Given the description of an element on the screen output the (x, y) to click on. 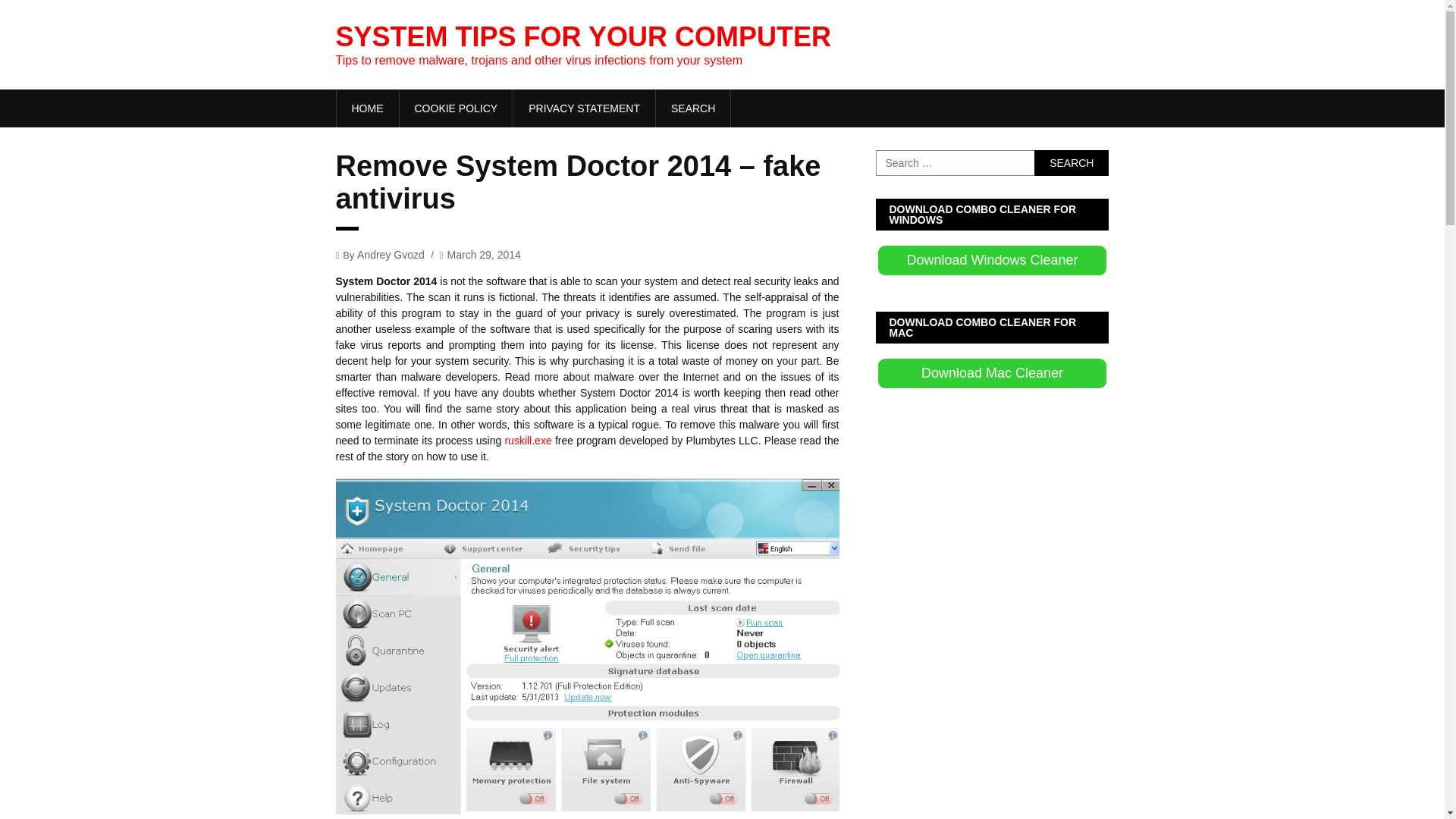
System Tips (367, 108)
Search (1070, 162)
ruskill.exe (527, 440)
Search (1070, 162)
SEARCH (693, 108)
SYSTEM TIPS FOR YOUR COMPUTER (581, 36)
Download Windows Cleaner (991, 260)
Andrey Gvozd (390, 254)
